Given the description of an element on the screen output the (x, y) to click on. 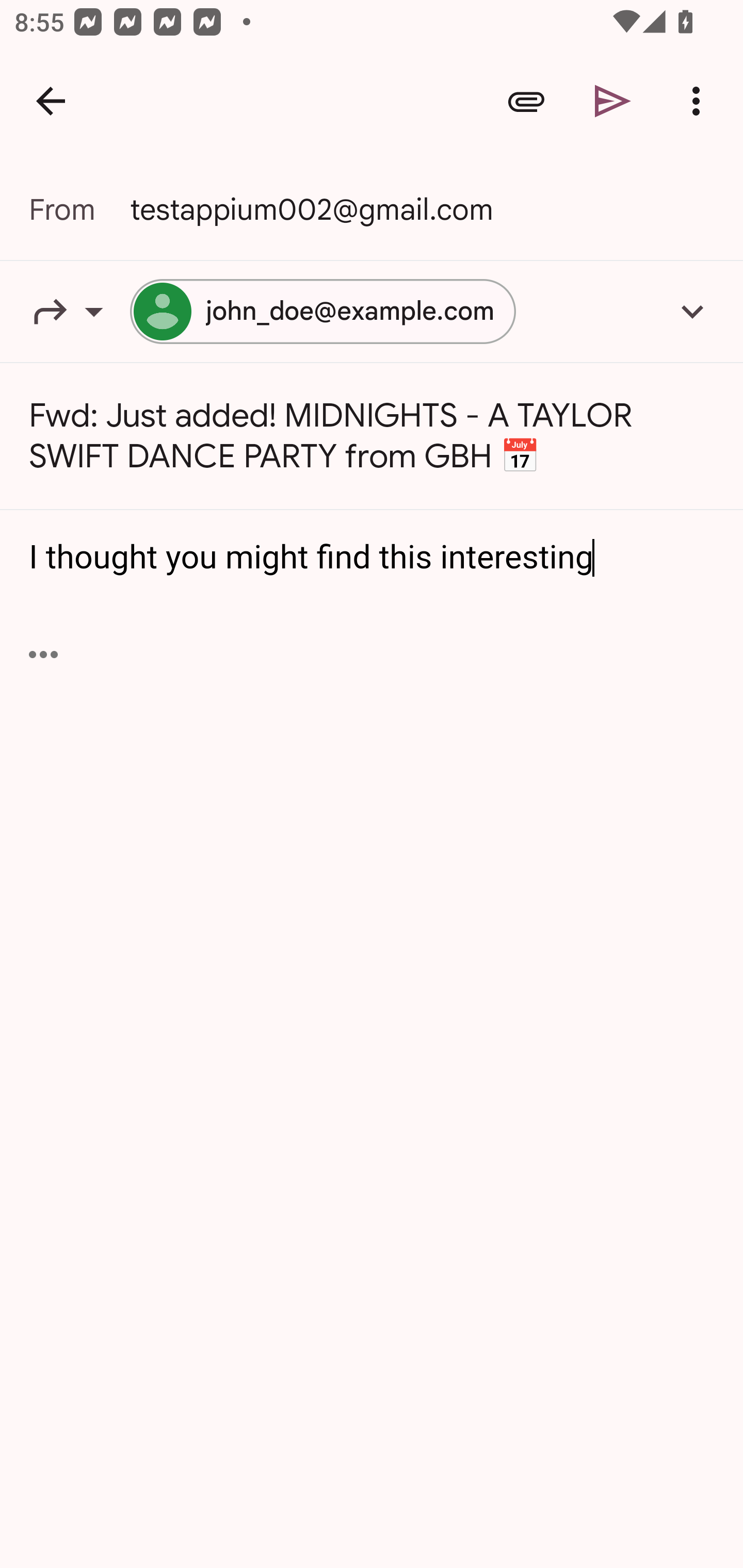
Navigate up (50, 101)
Attach file (525, 101)
Send (612, 101)
More options (699, 101)
From (79, 209)
Forward (79, 311)
Add Cc/Bcc (692, 311)
I thought you might find this interesting (372, 558)
Include quoted text (43, 654)
